Given the description of an element on the screen output the (x, y) to click on. 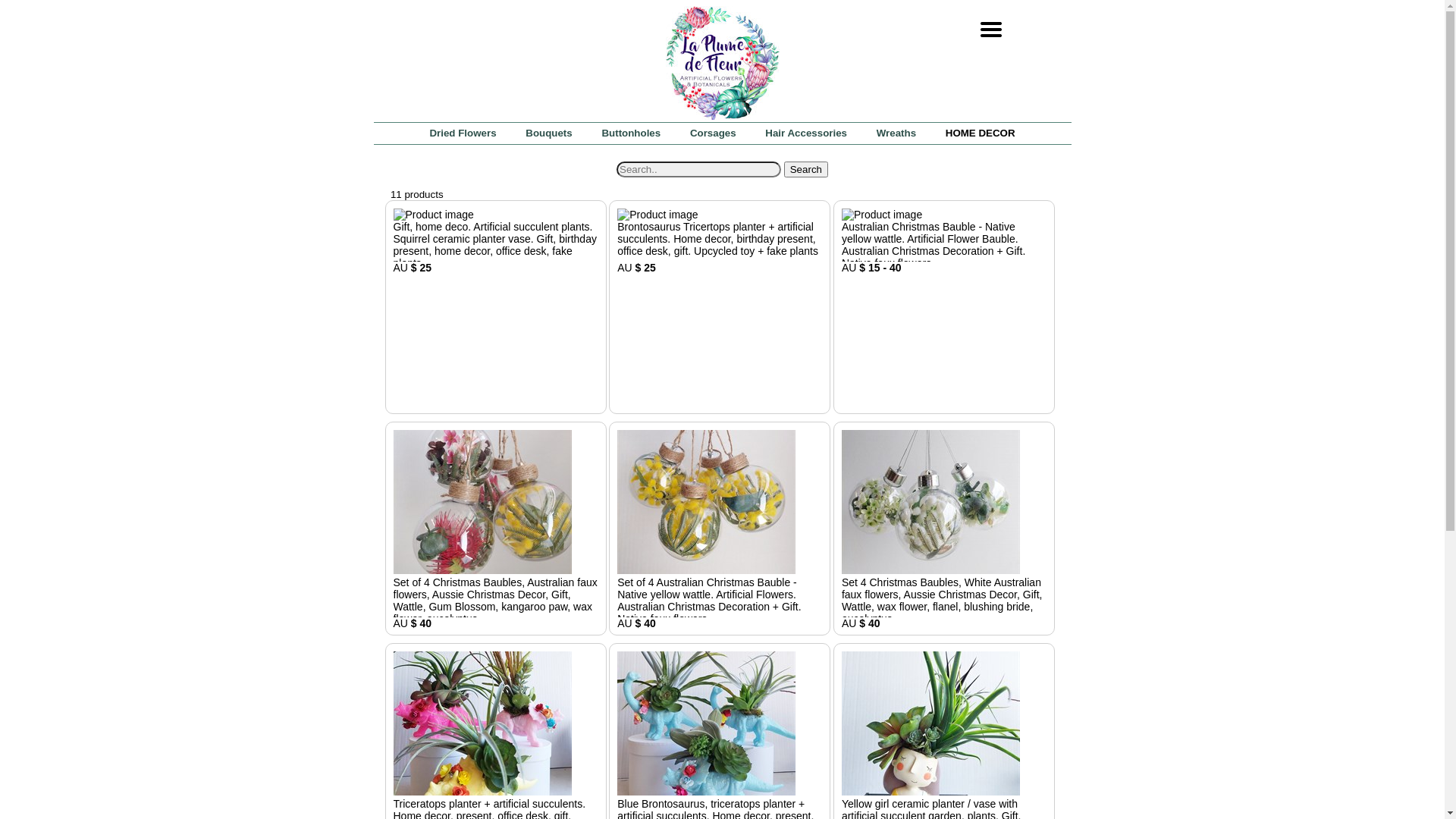
Home Element type: hover (722, 116)
Bouquets Element type: text (548, 132)
Buttonholes Element type: text (630, 132)
Hair Accessories Element type: text (806, 132)
Dried Flowers Element type: text (462, 132)
Menu Element type: hover (987, 27)
Corsages Element type: text (713, 132)
Home Element type: hover (722, 62)
Search Element type: text (806, 169)
Wreaths Element type: text (896, 132)
